Given the description of an element on the screen output the (x, y) to click on. 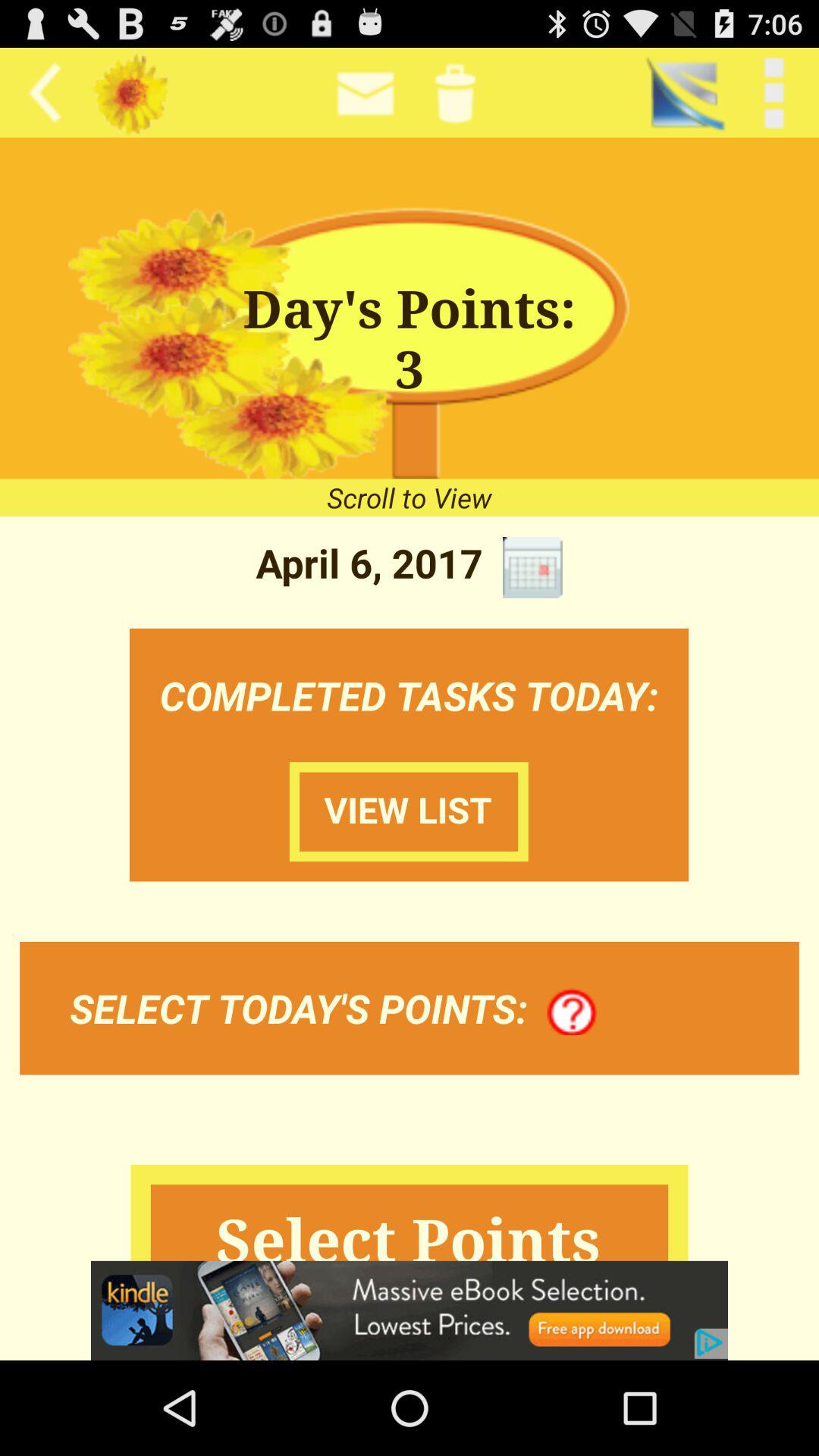
more info (572, 1012)
